Given the description of an element on the screen output the (x, y) to click on. 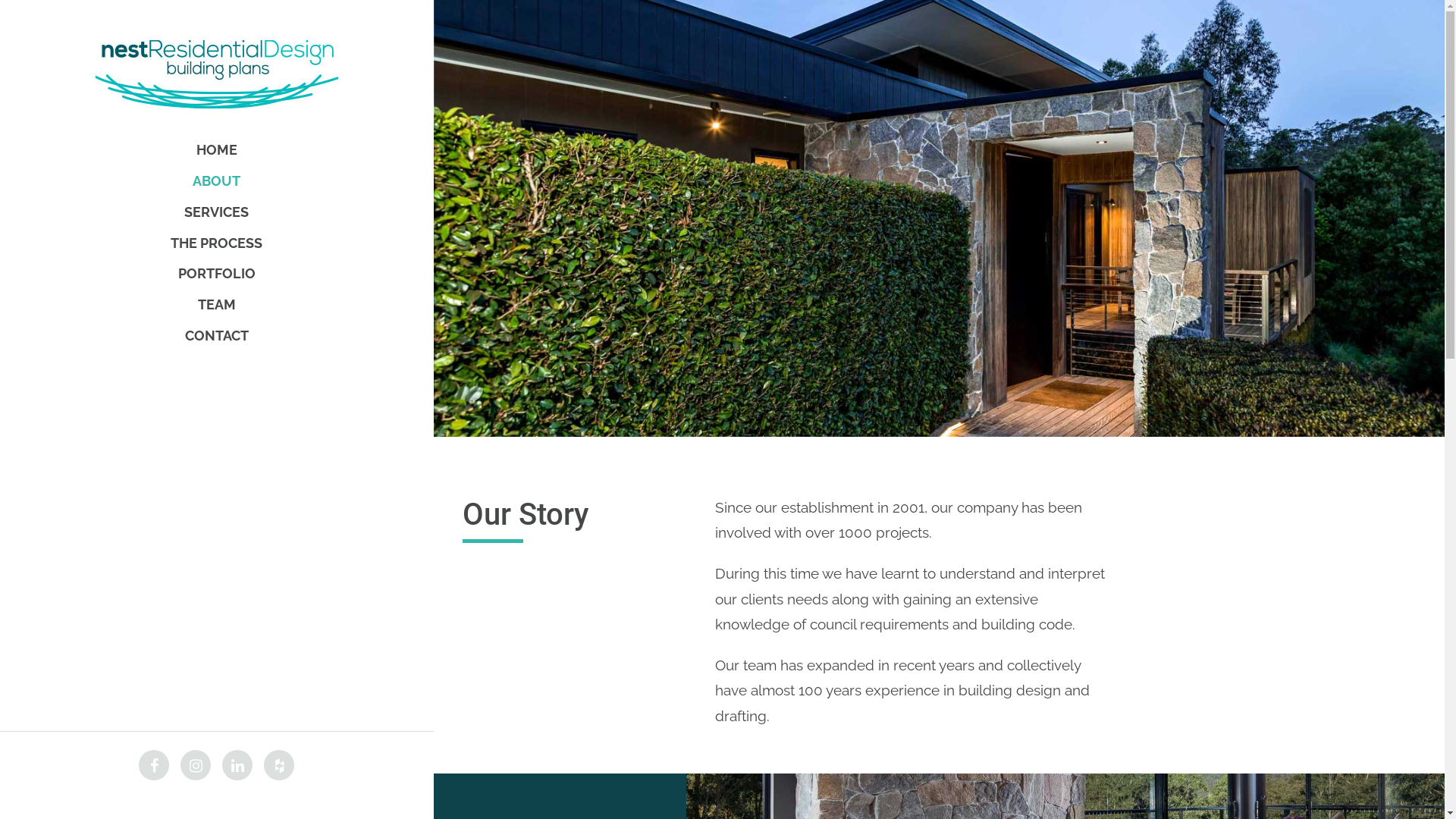
Instagram Element type: text (195, 764)
TEAM Element type: text (216, 304)
SERVICES Element type: text (215, 211)
Houzz Element type: text (278, 764)
PORTFOLIO Element type: text (216, 273)
ABOUT Element type: text (216, 180)
LinkedIn Element type: text (237, 764)
Facebook Element type: text (153, 764)
CONTACT Element type: text (216, 335)
THE PROCESS Element type: text (216, 242)
HOME Element type: text (216, 150)
